Given the description of an element on the screen output the (x, y) to click on. 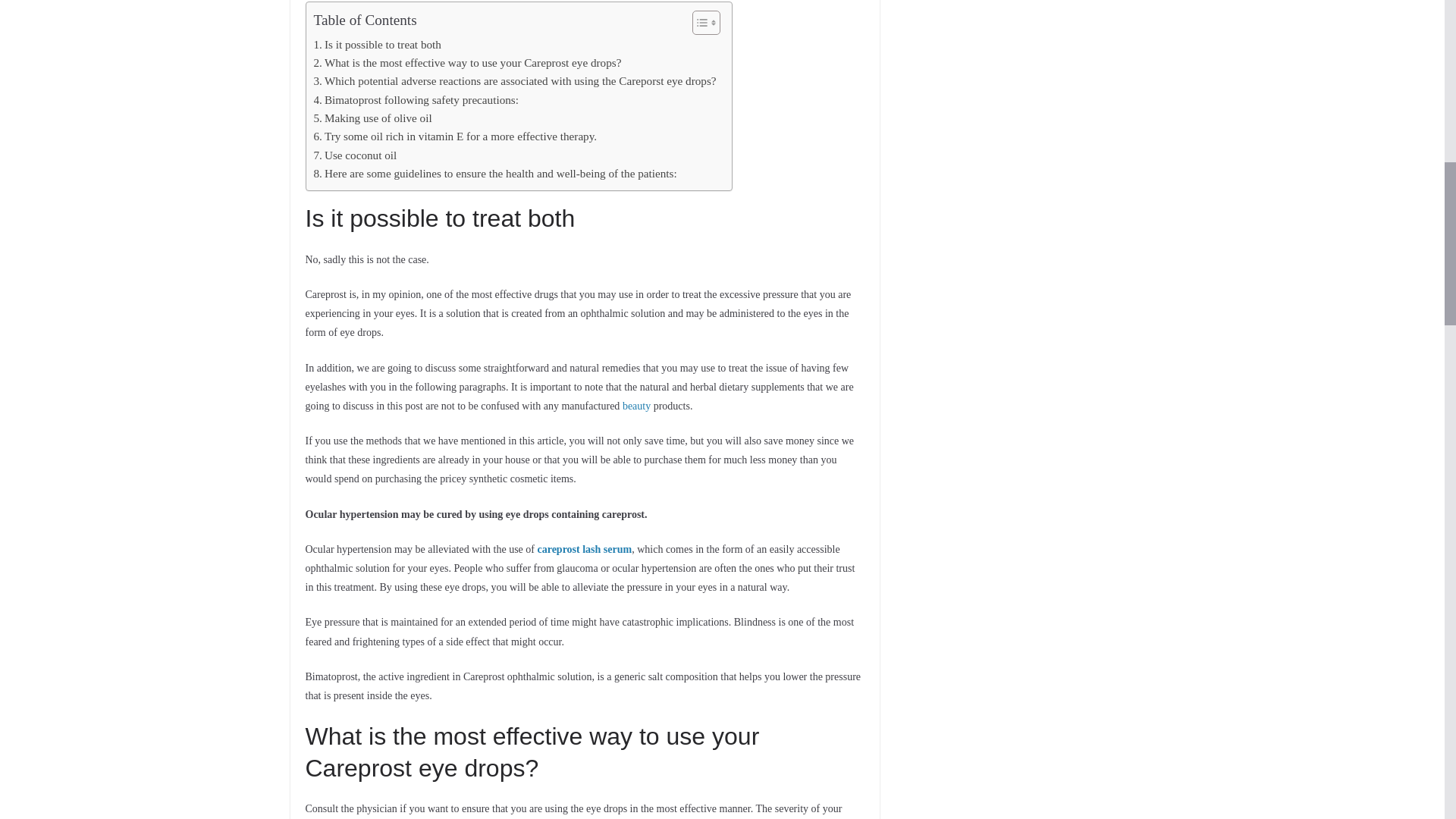
Use coconut oil (355, 155)
careprost lash serum (584, 549)
Is it possible to treat both  (377, 45)
Bimatoprost following safety precautions: (416, 99)
Use coconut oil (355, 155)
Making use of olive oil (373, 117)
Is it possible to treat both (377, 45)
Try some oil rich in vitamin E for a more effective therapy. (455, 136)
Making use of olive oil (373, 117)
Try some oil rich in vitamin E for a more effective therapy. (455, 136)
